Given the description of an element on the screen output the (x, y) to click on. 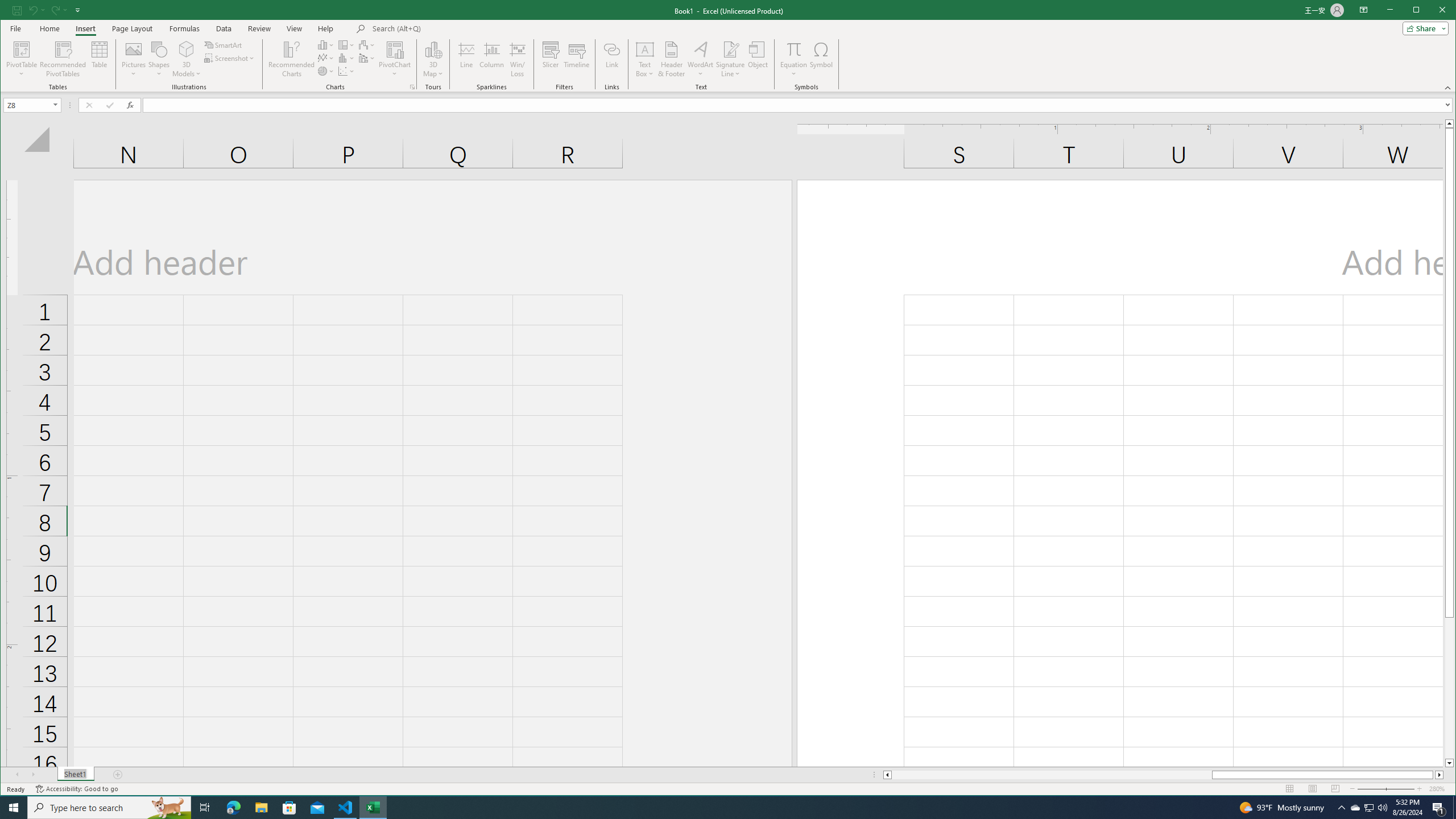
Ribbon Display Options (1364, 9)
PivotTable (22, 59)
Redo (55, 9)
Start (13, 807)
Q2790: 100% (1382, 807)
Running applications (717, 807)
Search highlights icon opens search home window (167, 807)
Microsoft search (451, 28)
Scroll Left (18, 774)
Task View (204, 807)
Maximize (1432, 11)
Object... (757, 59)
File Explorer (261, 807)
Recommended PivotTables (63, 59)
